Given the description of an element on the screen output the (x, y) to click on. 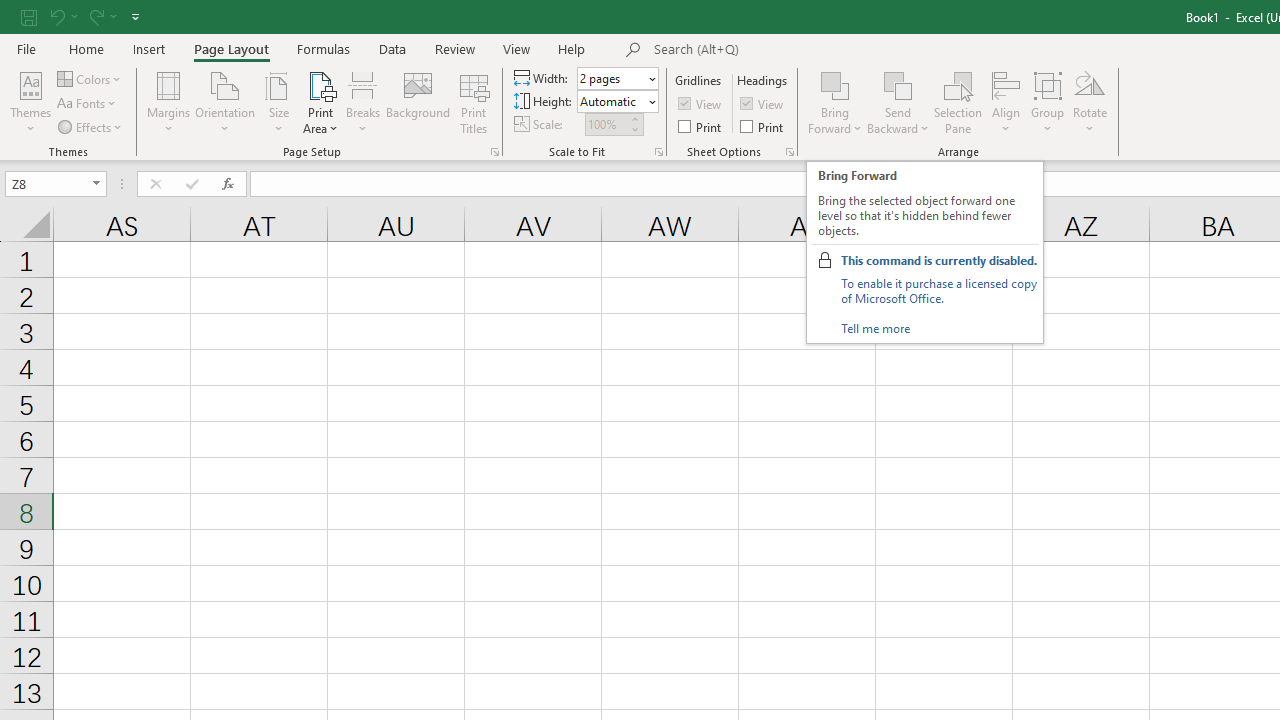
Group (1047, 102)
More (633, 118)
Size (278, 102)
Margins (168, 102)
Fonts (87, 103)
Colors (90, 78)
Send Backward (898, 84)
